Given the description of an element on the screen output the (x, y) to click on. 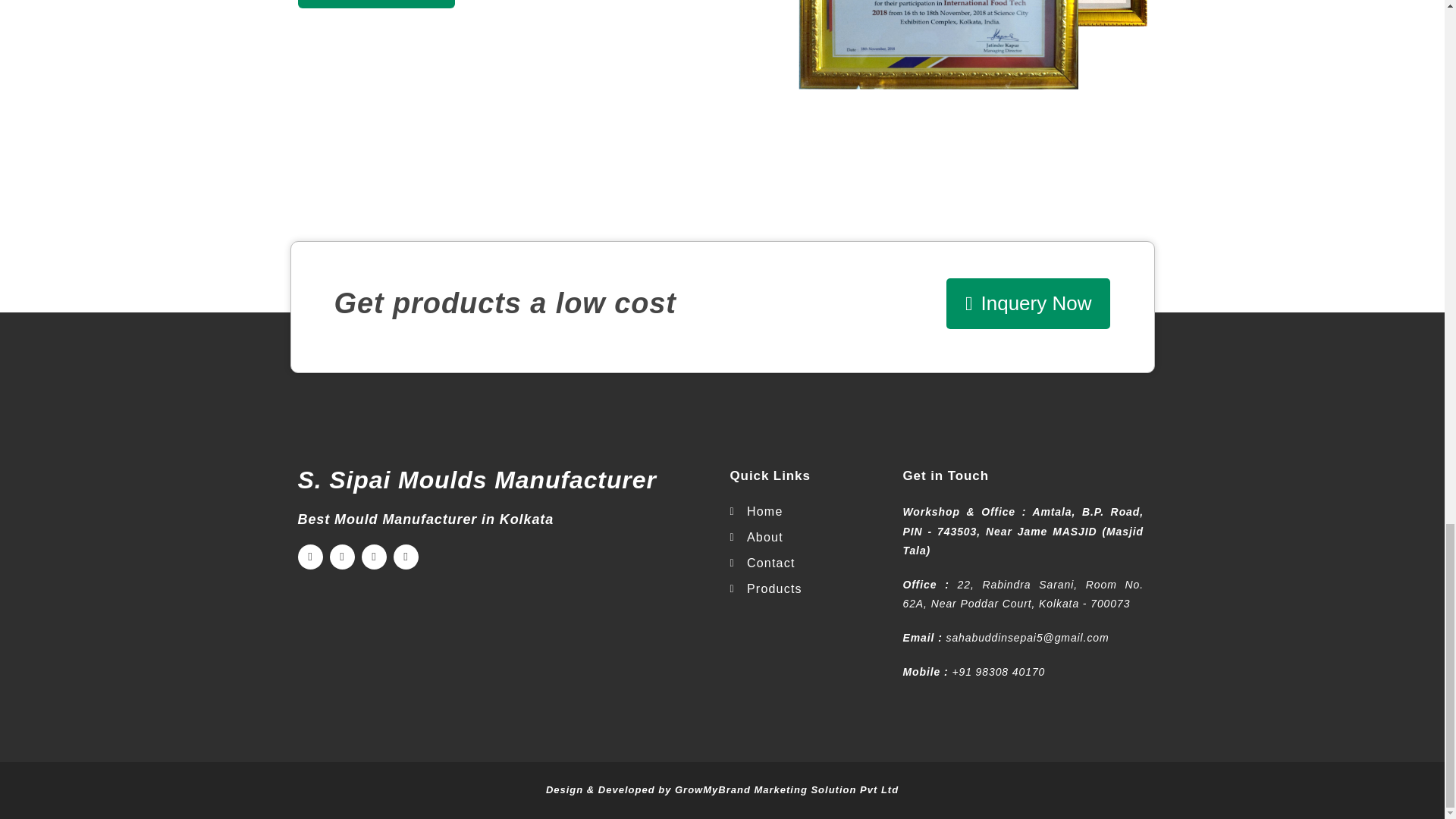
Home (768, 511)
Products (768, 588)
About (768, 537)
Contact (768, 563)
GET IN TOUCH (375, 4)
Inquery Now (1027, 303)
